Given the description of an element on the screen output the (x, y) to click on. 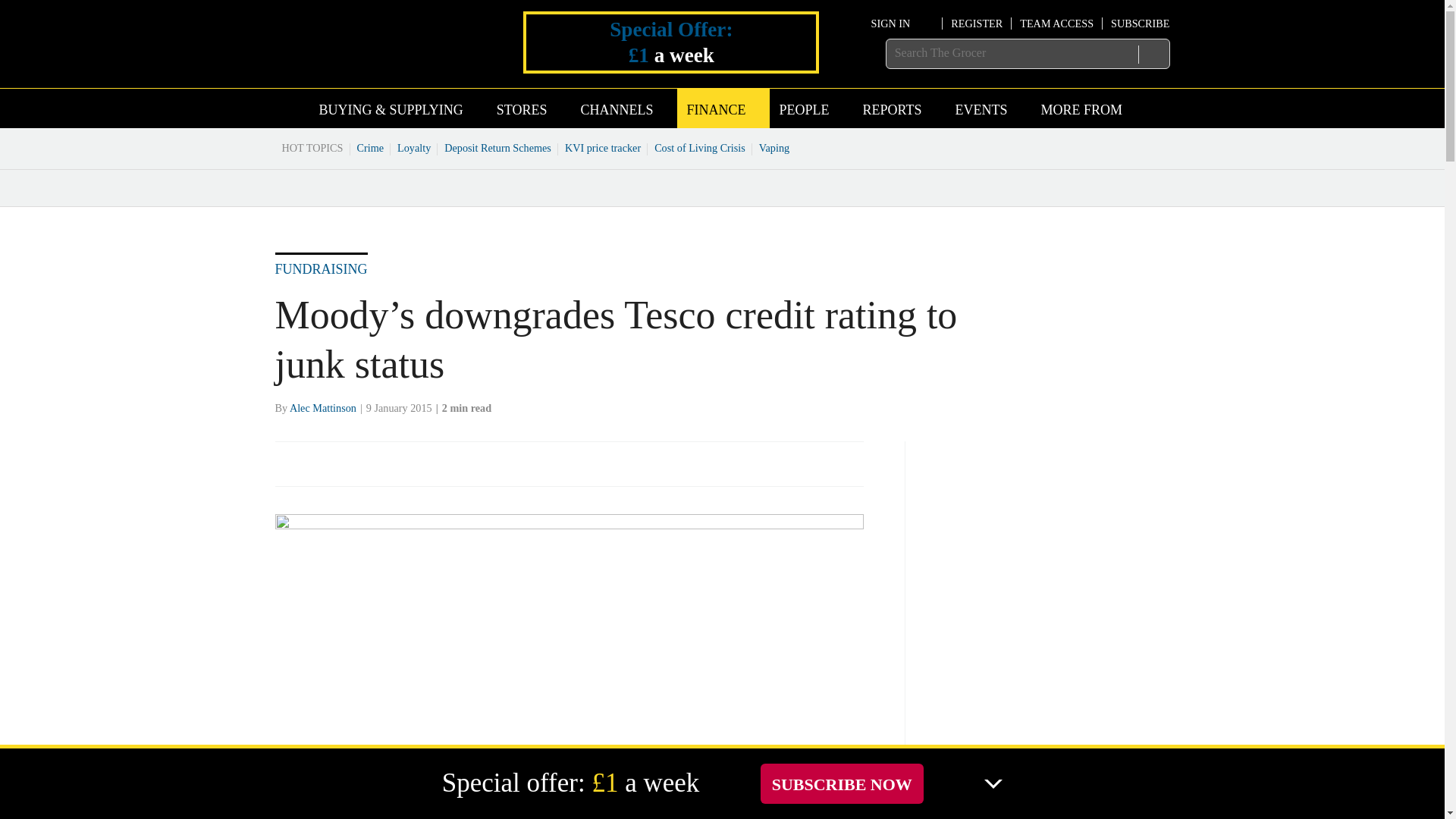
KVI price tracker (602, 147)
SIGN IN (902, 23)
Vaping (774, 147)
Crime (370, 147)
Site name (363, 65)
Cost of Living Crisis (699, 147)
SUBSCRIBE (1139, 23)
Share this on Linked in (352, 462)
Deposit Return Schemes (497, 147)
Share this on Facebook (288, 462)
TEAM ACCESS (1056, 23)
Share this on Twitter (320, 462)
No comments (812, 472)
SUBSCRIBE NOW (841, 783)
SEARCH (1153, 53)
